Given the description of an element on the screen output the (x, y) to click on. 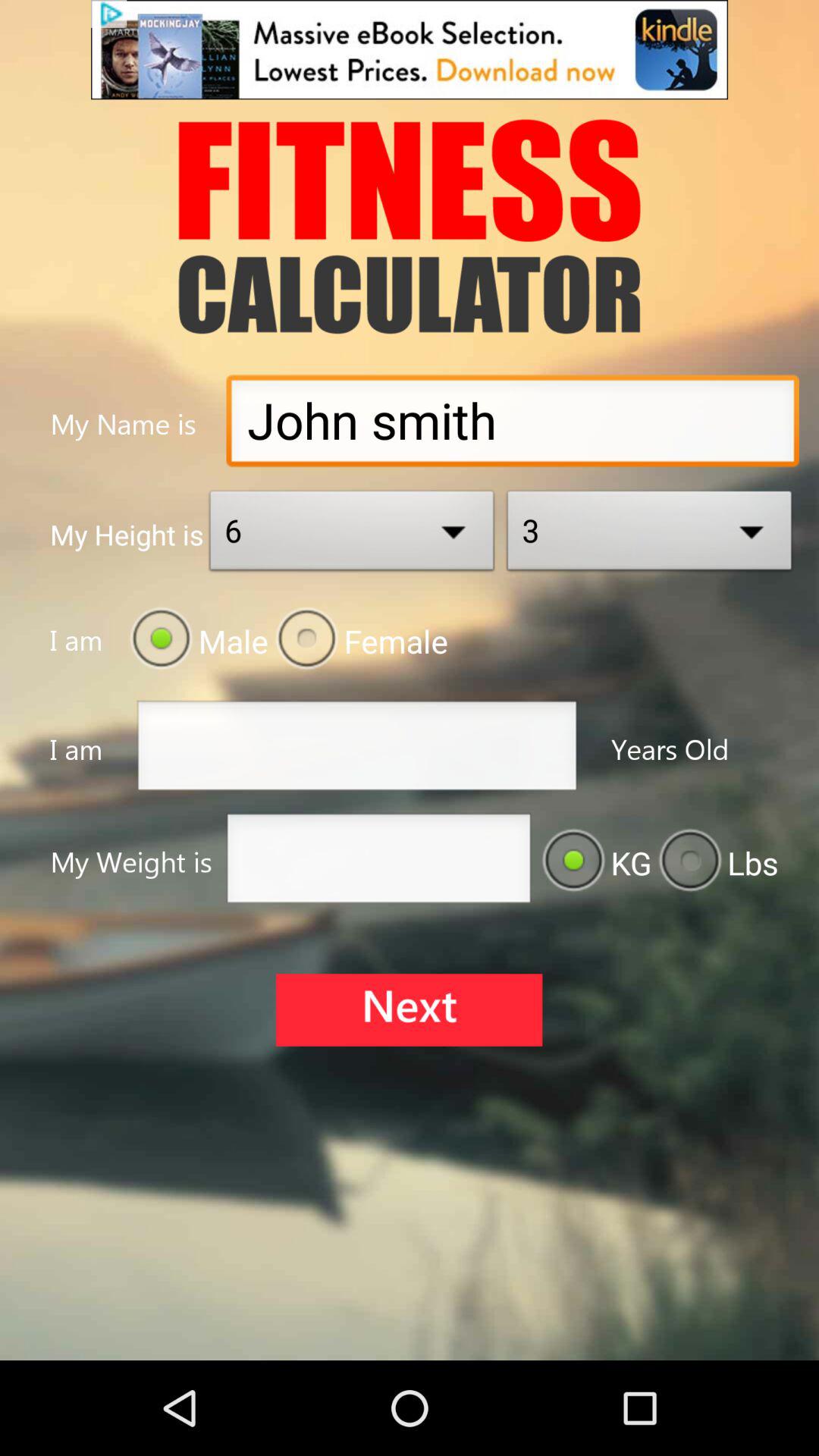
enter value (378, 862)
